Given the description of an element on the screen output the (x, y) to click on. 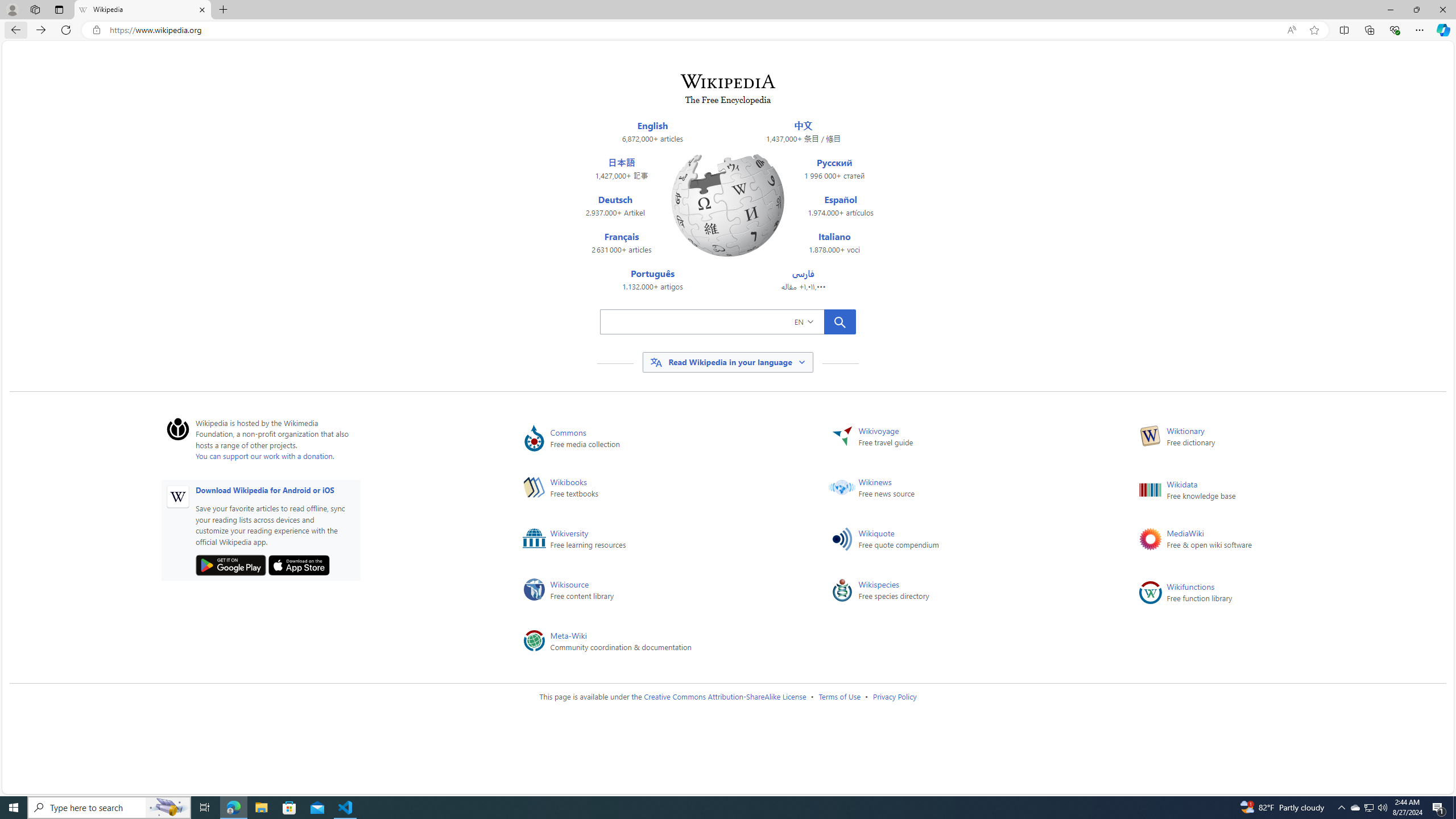
Wikiquote Free quote compendium (965, 541)
Download Wikipedia for Android or iOS (264, 489)
Creative Commons Attribution-ShareAlike License (724, 696)
Wikifunctions Free function library (1274, 592)
Wikisource Free content library (658, 592)
Wikivoyage Free travel guide (965, 438)
MediaWiki Free & open wiki software (1274, 541)
